Given the description of an element on the screen output the (x, y) to click on. 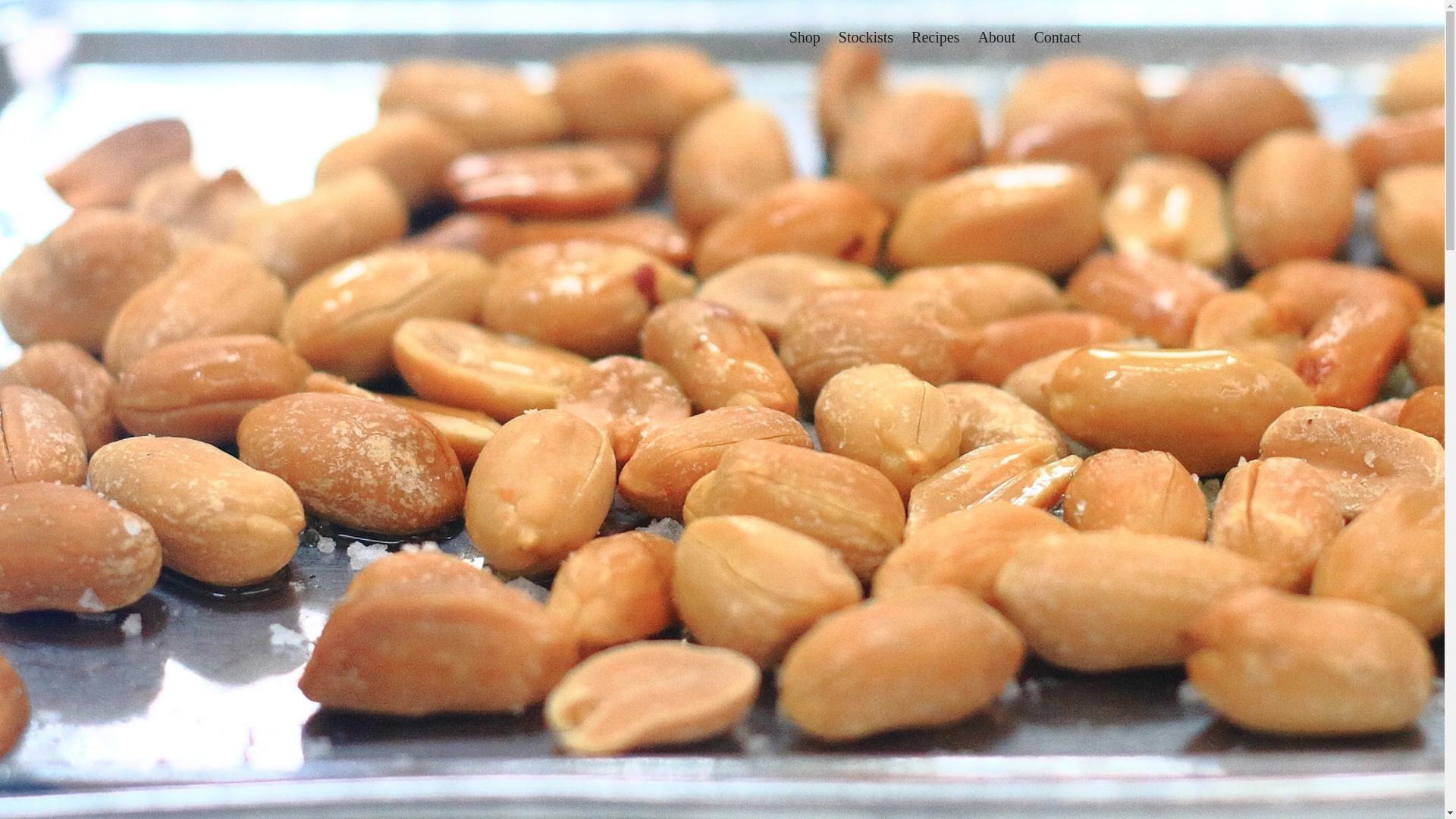
Stockists (865, 37)
